Given the description of an element on the screen output the (x, y) to click on. 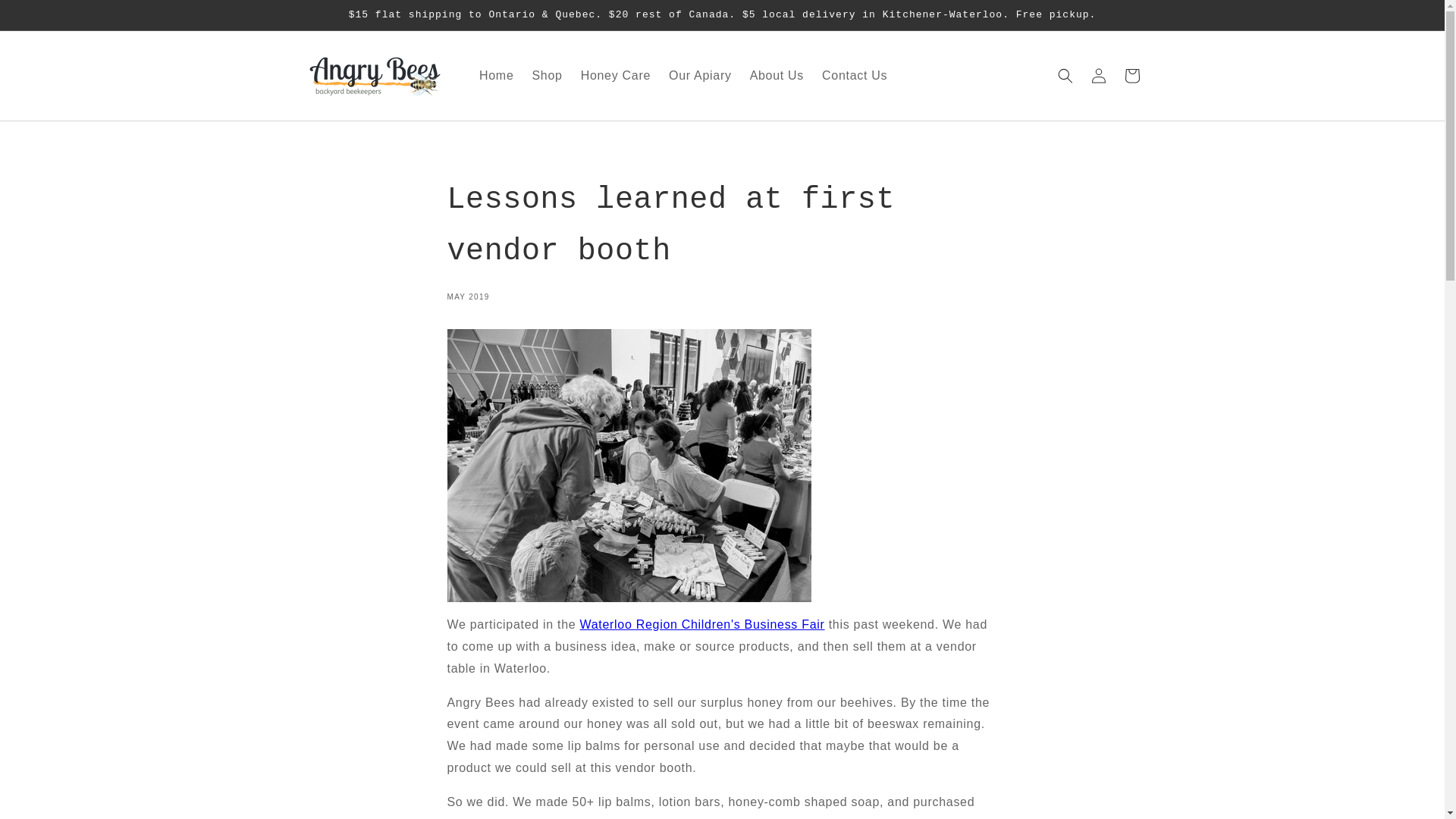
Skip to content (45, 16)
Cart (1131, 75)
Waterloo Region Children's Business Fair (702, 624)
About Us (776, 75)
Honey Care (615, 75)
Home (496, 75)
Shop (546, 75)
Log in (1098, 75)
Our Apiary (700, 75)
Contact Us (854, 75)
